Given the description of an element on the screen output the (x, y) to click on. 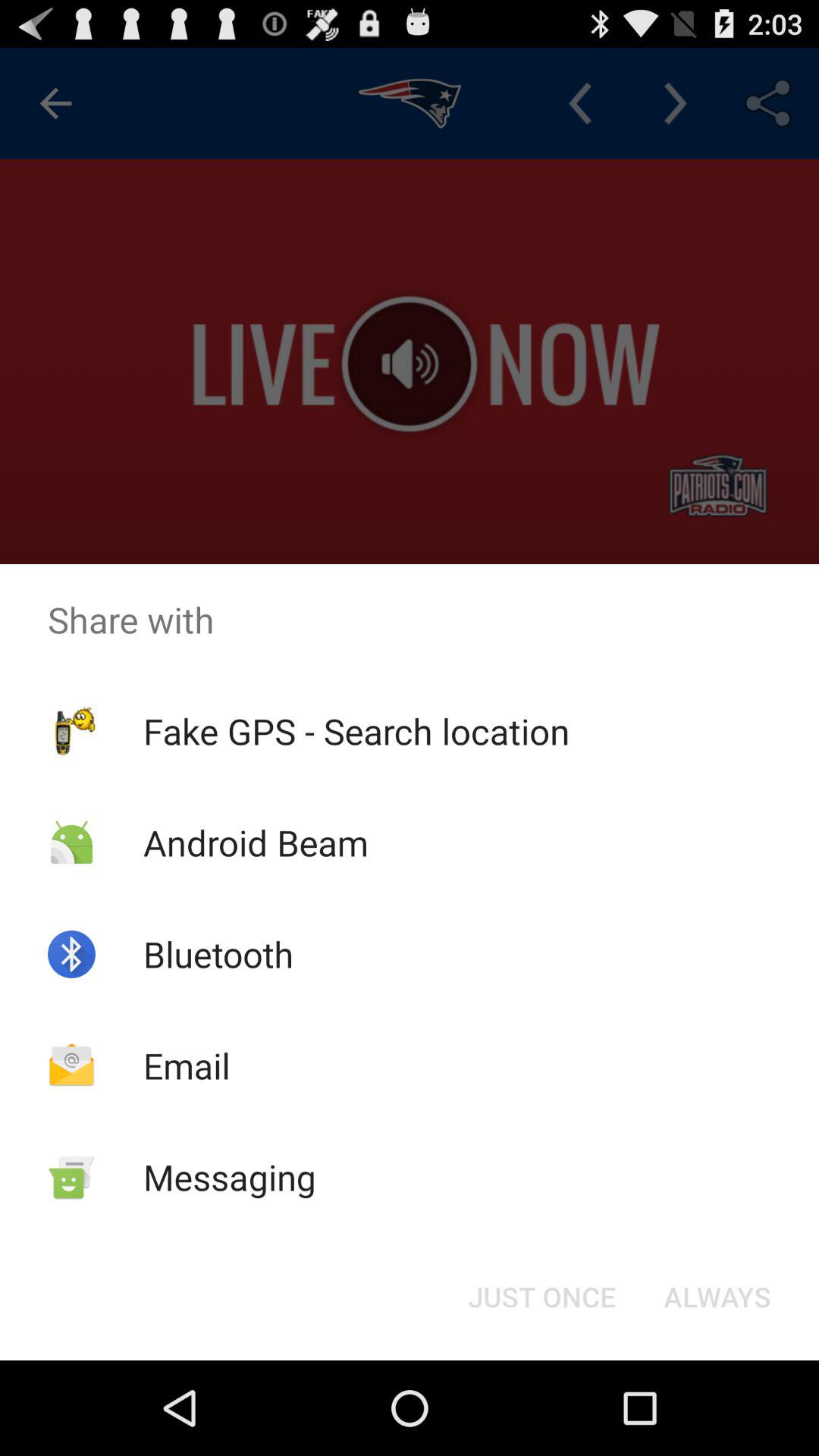
turn on bluetooth item (218, 953)
